Given the description of an element on the screen output the (x, y) to click on. 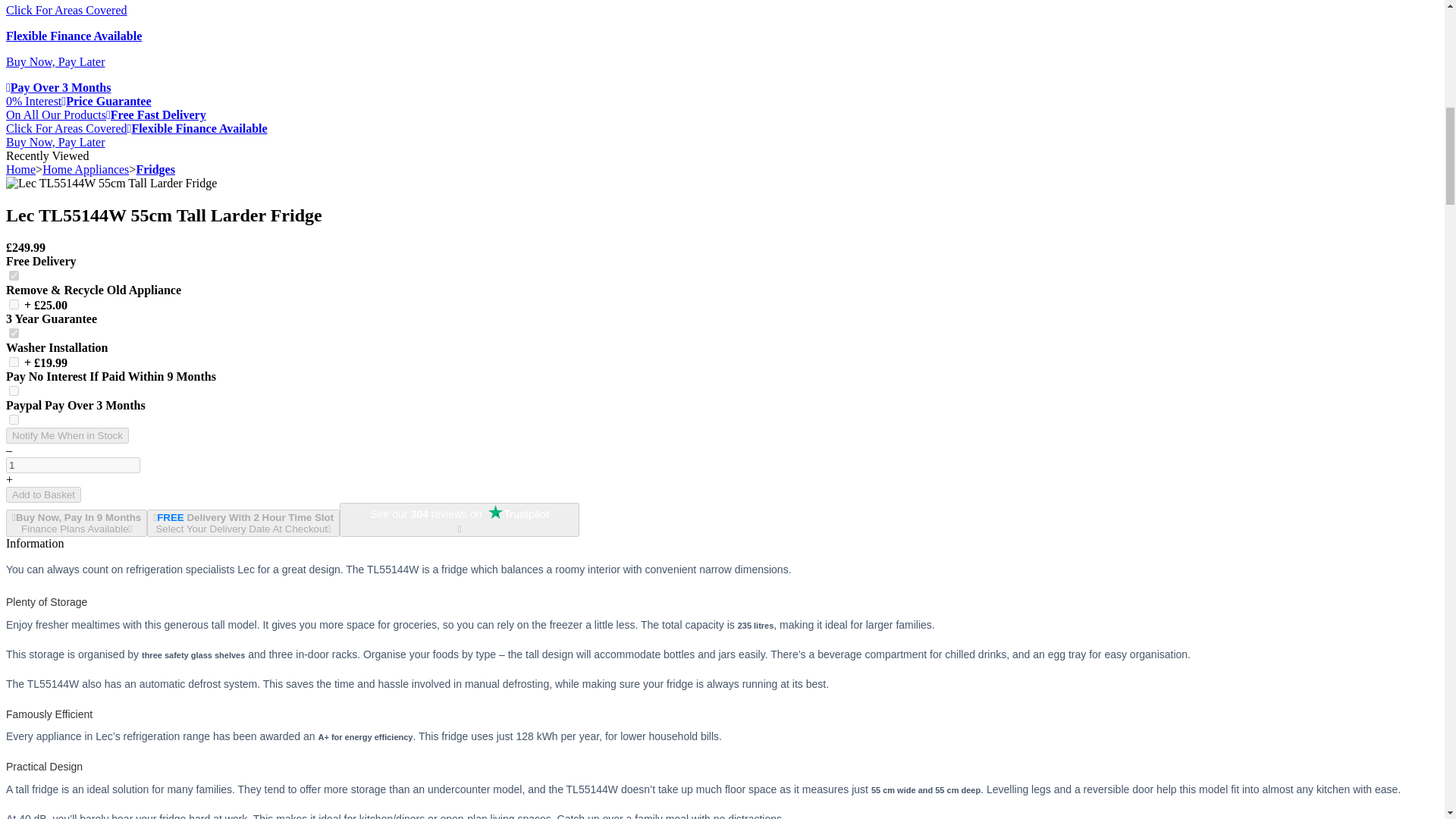
1 (13, 304)
1 (13, 333)
1 (13, 390)
1 (13, 275)
Customer reviews powered by Trustpilot (459, 514)
1 (72, 465)
1 (13, 361)
1 (13, 419)
